Given the description of an element on the screen output the (x, y) to click on. 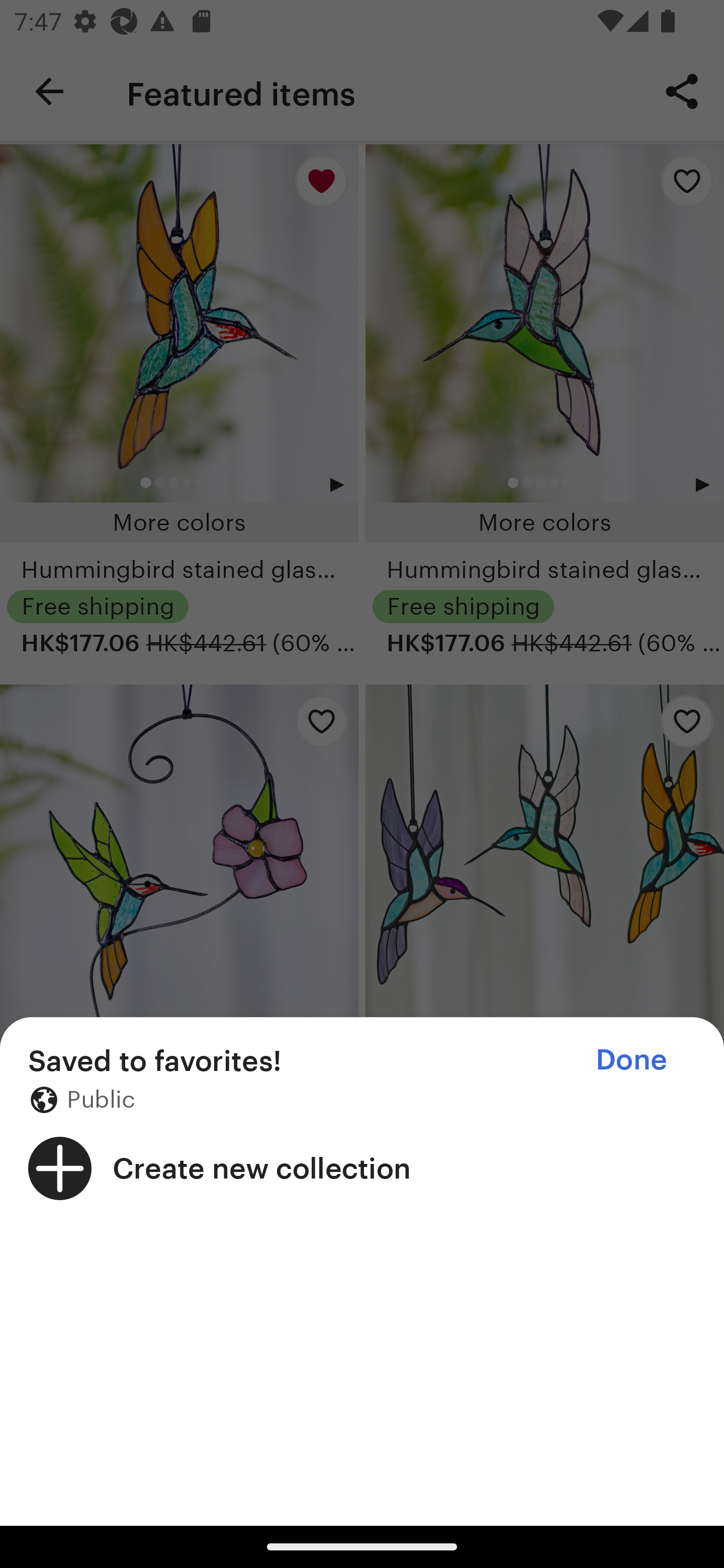
Done (630, 1059)
Create new collection (361, 1167)
